Given the description of an element on the screen output the (x, y) to click on. 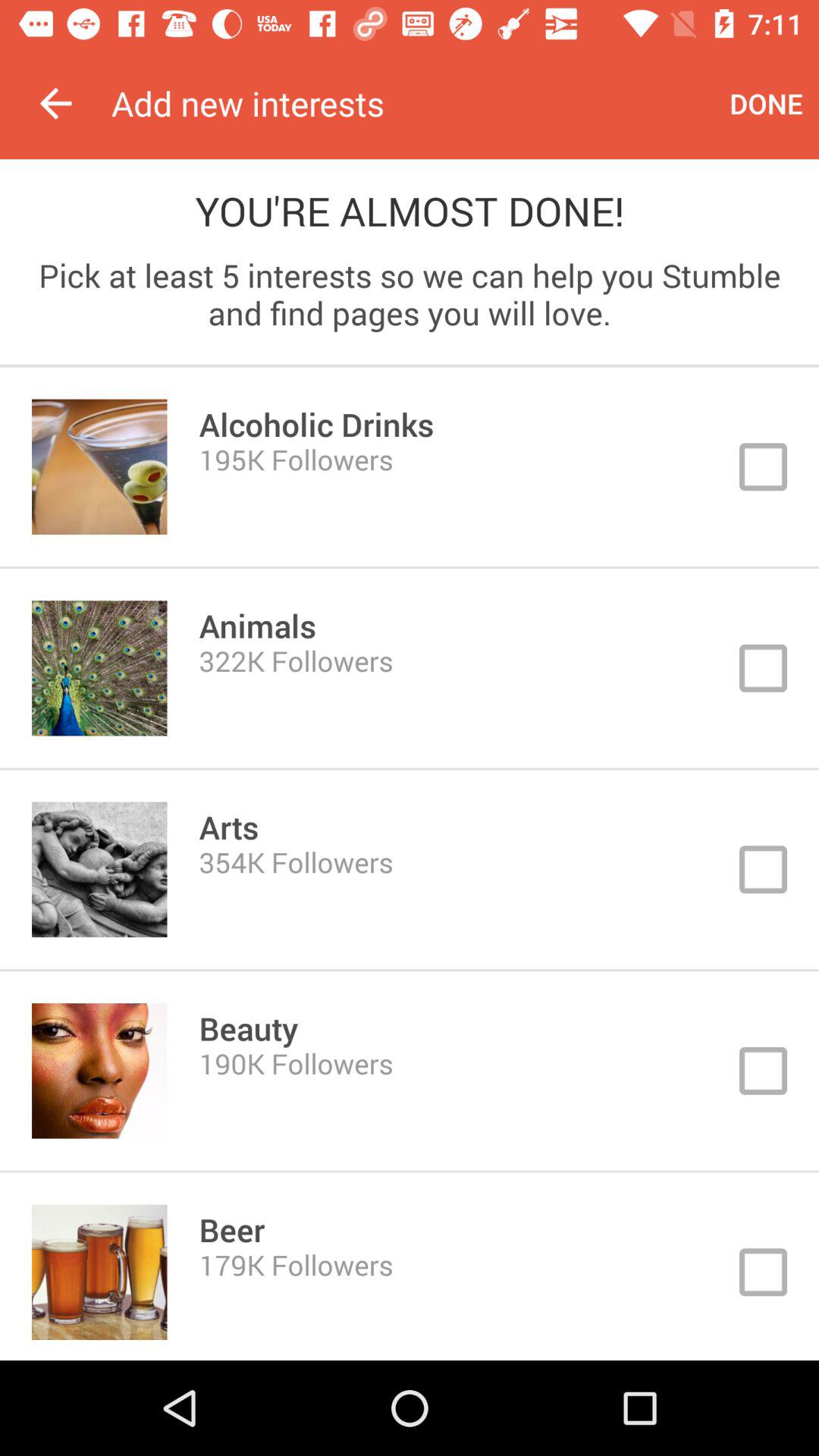
press the icon to the left of add new interests icon (55, 103)
